Given the description of an element on the screen output the (x, y) to click on. 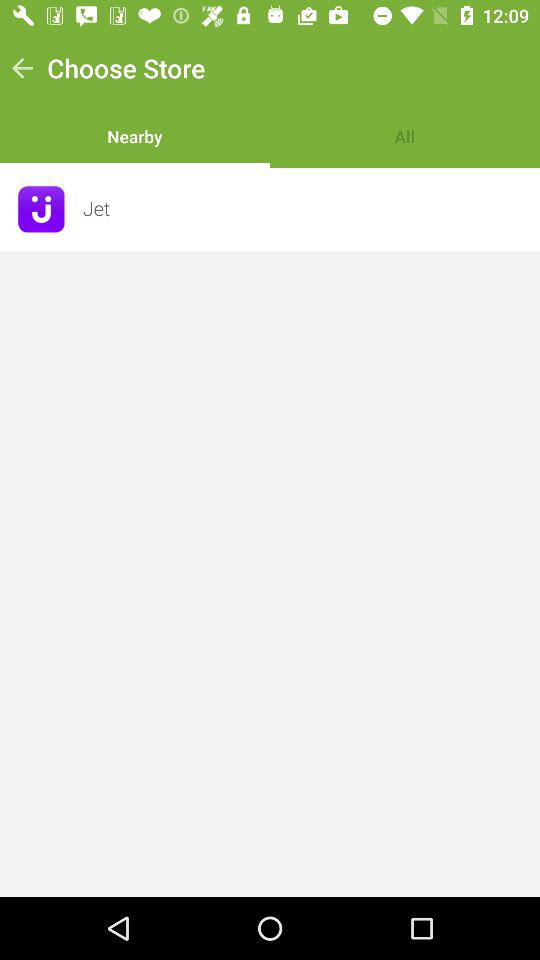
open the icon below the nearby item (305, 208)
